Given the description of an element on the screen output the (x, y) to click on. 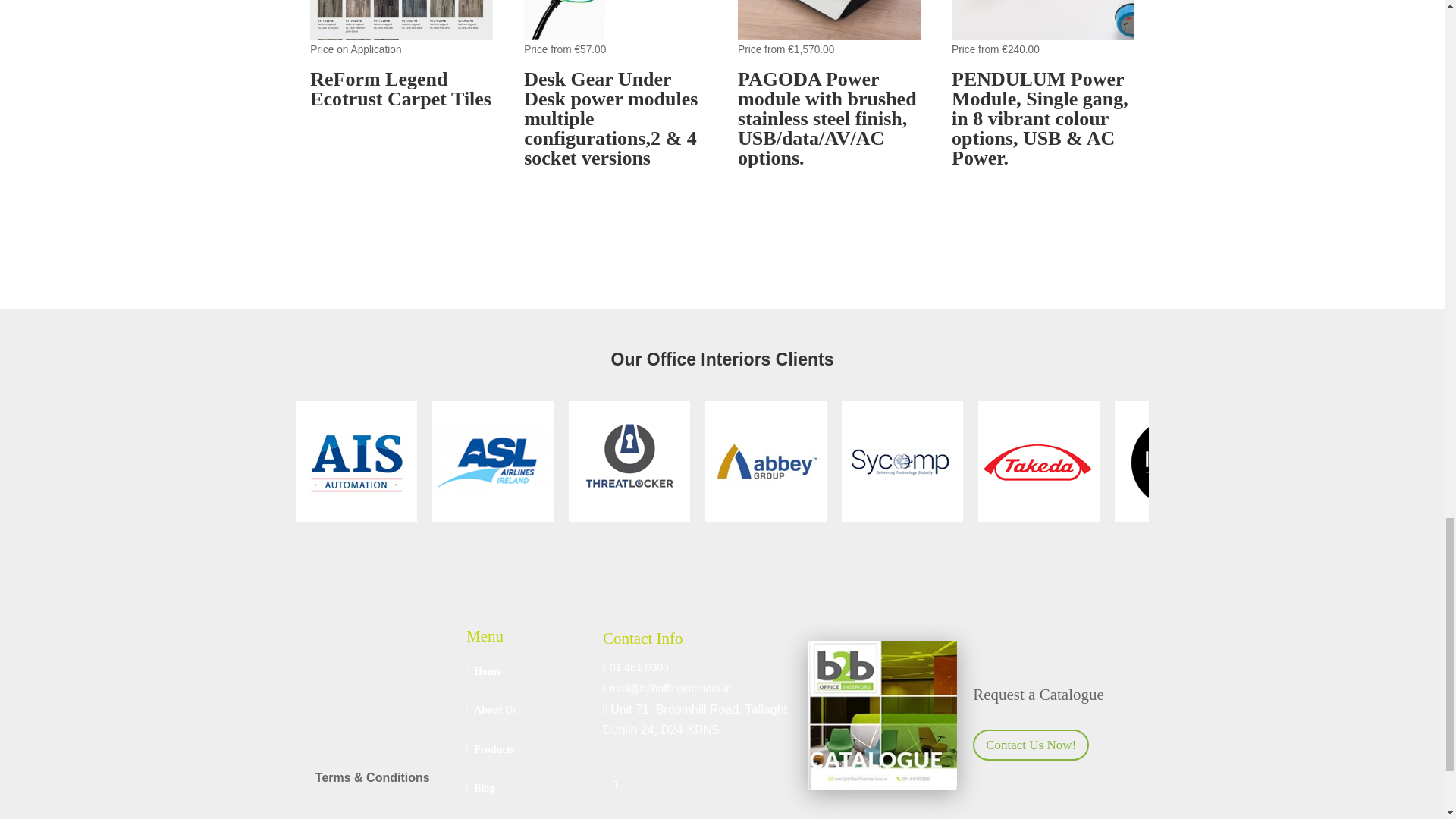
Follow on LinkedIn (614, 785)
